Given the description of an element on the screen output the (x, y) to click on. 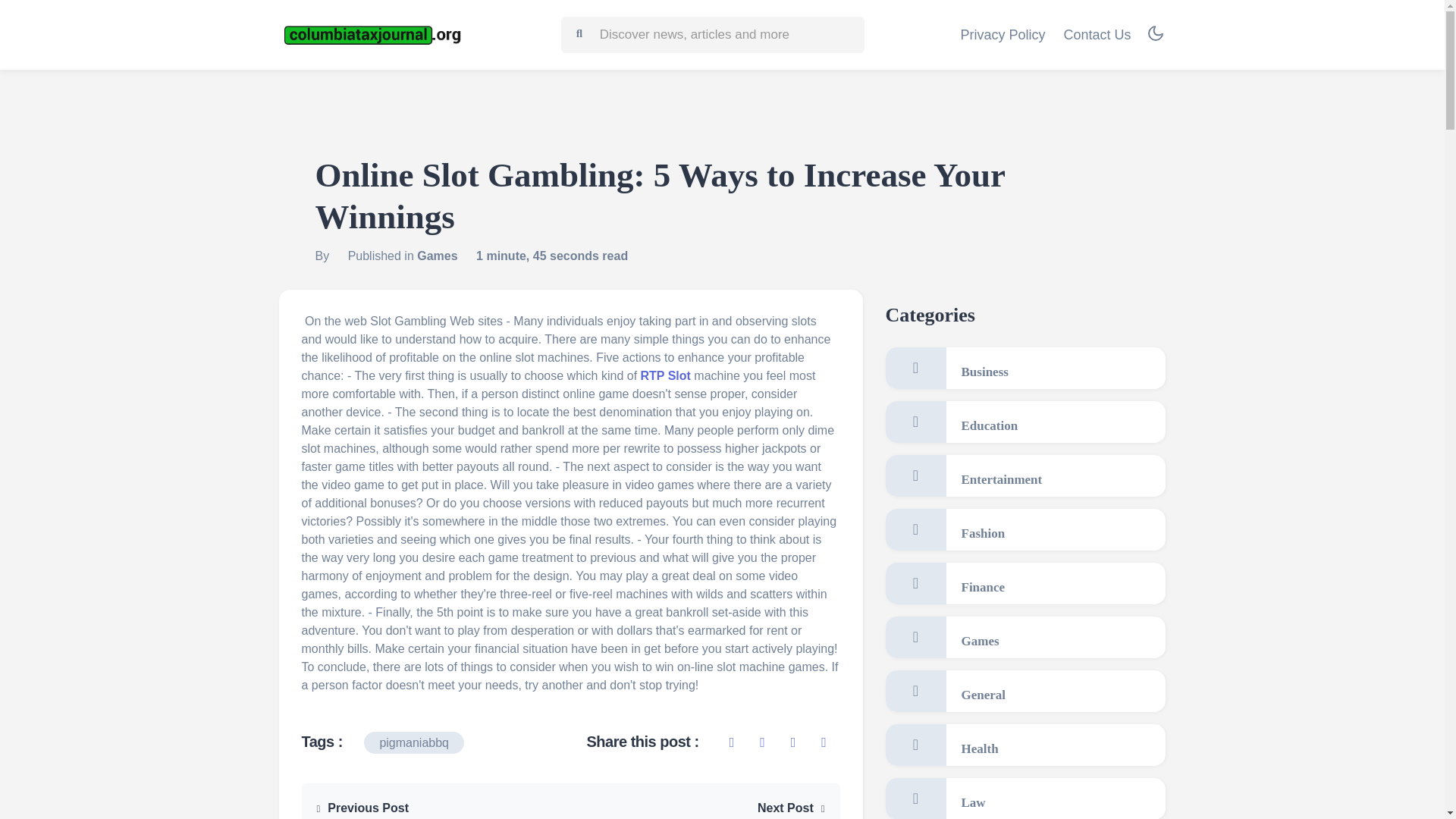
Contact Us (1097, 34)
Fashion (1025, 529)
Privacy Policy (1002, 34)
Law (1025, 798)
Education (1025, 422)
Business (1025, 368)
Games (436, 255)
RTP Slot (665, 375)
Health (1025, 744)
pigmaniabbq (414, 742)
